Given the description of an element on the screen output the (x, y) to click on. 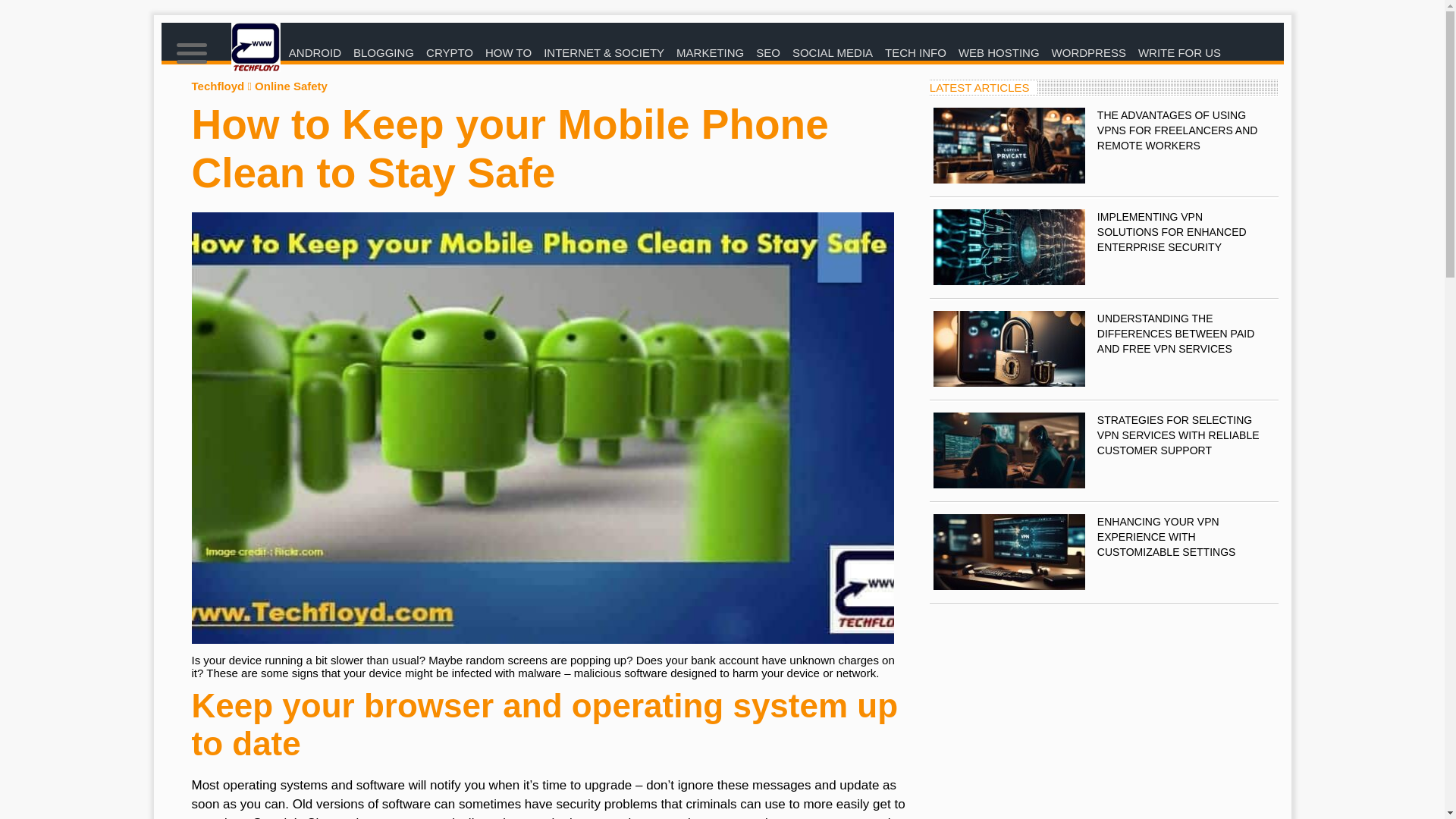
SOCIAL MEDIA (832, 53)
CRYPTO (449, 53)
WRITE FOR US (1179, 53)
SEO (767, 53)
Enhancing Your VPN Experience With Customizable Settings (1008, 551)
BLOGGING (383, 53)
WEB HOSTING (998, 53)
WORDPRESS (1088, 53)
Implementing VPN Solutions for Enhanced Enterprise Security (1008, 247)
ANDROID (314, 53)
Advertisement (1103, 709)
HOW TO (508, 53)
